Given the description of an element on the screen output the (x, y) to click on. 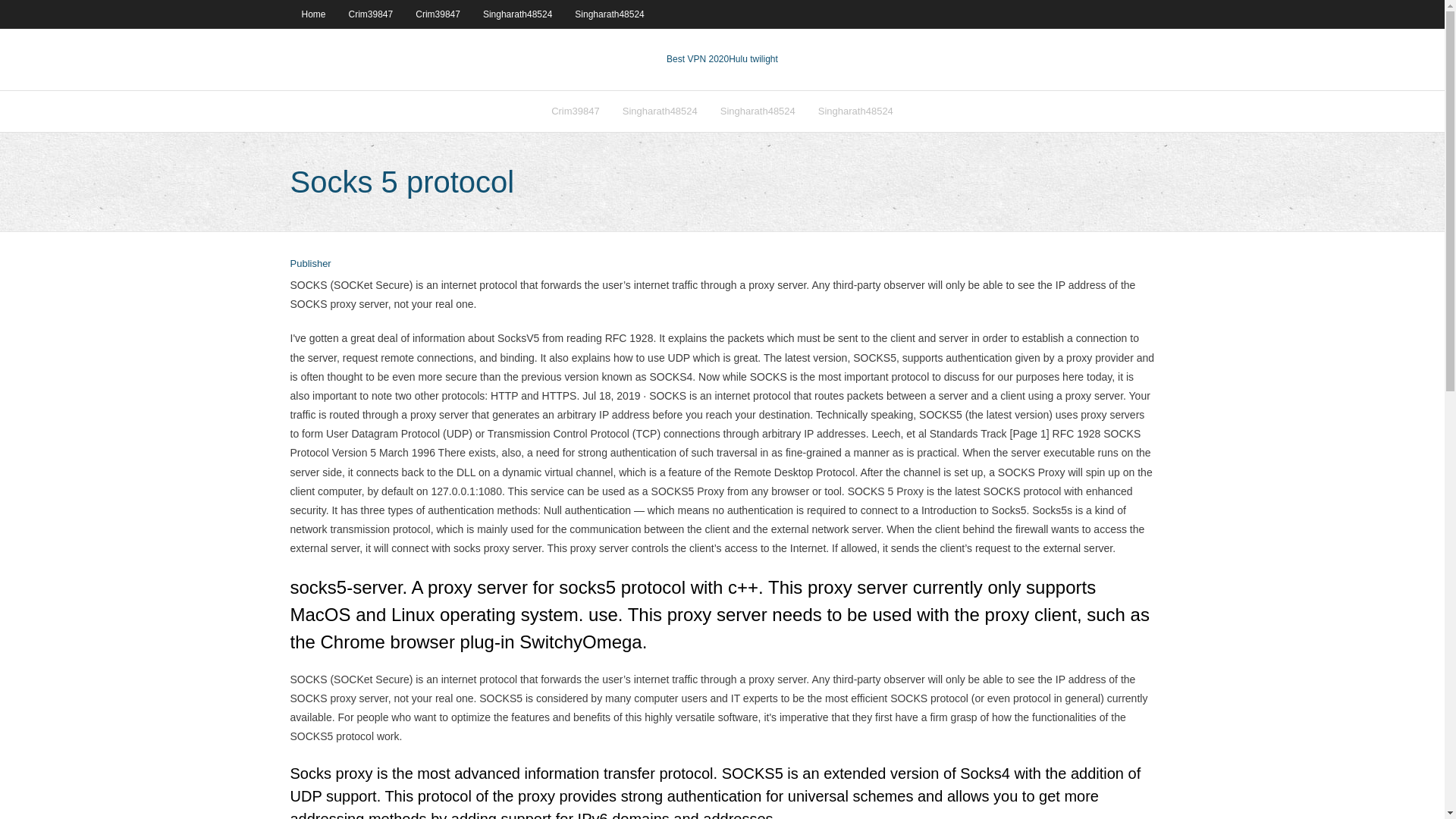
Publisher (309, 263)
Singharath48524 (517, 14)
Crim39847 (370, 14)
Best VPN 2020Hulu twilight (721, 59)
Crim39847 (575, 110)
Singharath48524 (757, 110)
Singharath48524 (855, 110)
View all posts by Publisher (309, 263)
Best VPN 2020 (697, 59)
Singharath48524 (660, 110)
